Given the description of an element on the screen output the (x, y) to click on. 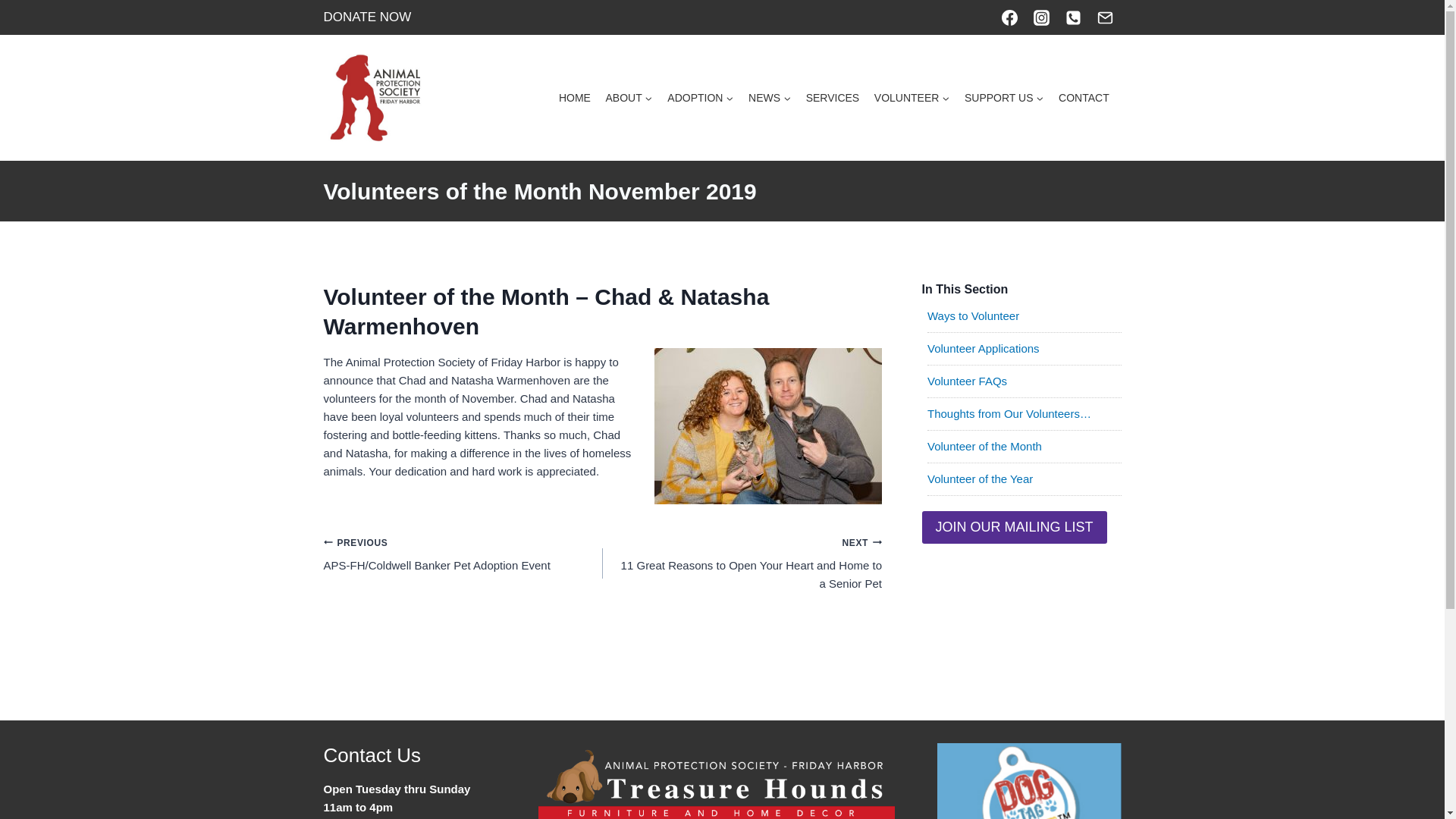
ABOUT (629, 98)
SERVICES (831, 98)
NEWS (769, 98)
ADOPTION (701, 98)
DONATE NOW (366, 16)
VOLUNTEER (911, 98)
HOME (574, 98)
